Given the description of an element on the screen output the (x, y) to click on. 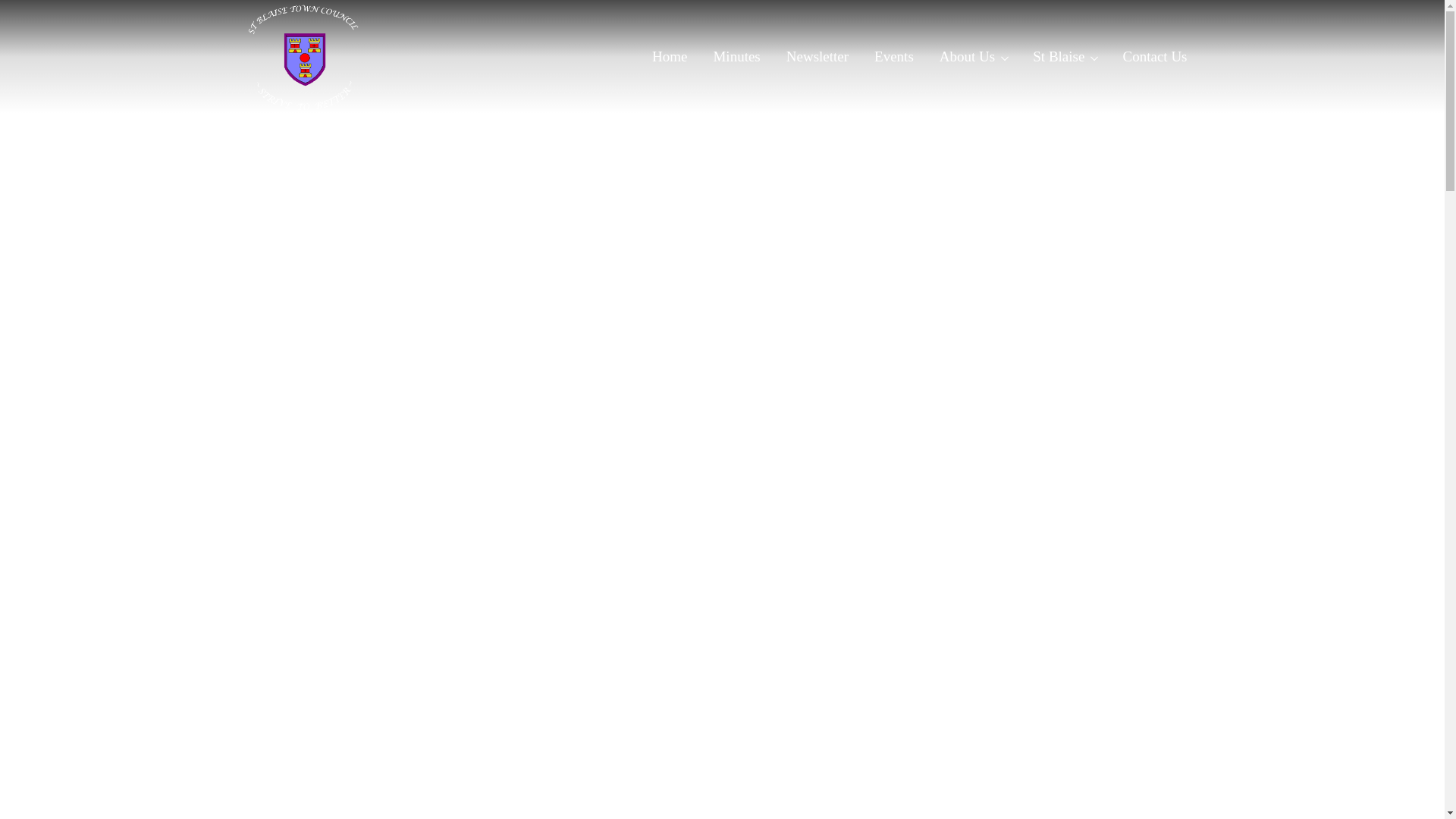
Events (893, 56)
Home (669, 56)
About Us (973, 56)
Newsletter (817, 56)
Contact Us (1154, 56)
St Blaise (1064, 56)
Minutes (736, 56)
